Given the description of an element on the screen output the (x, y) to click on. 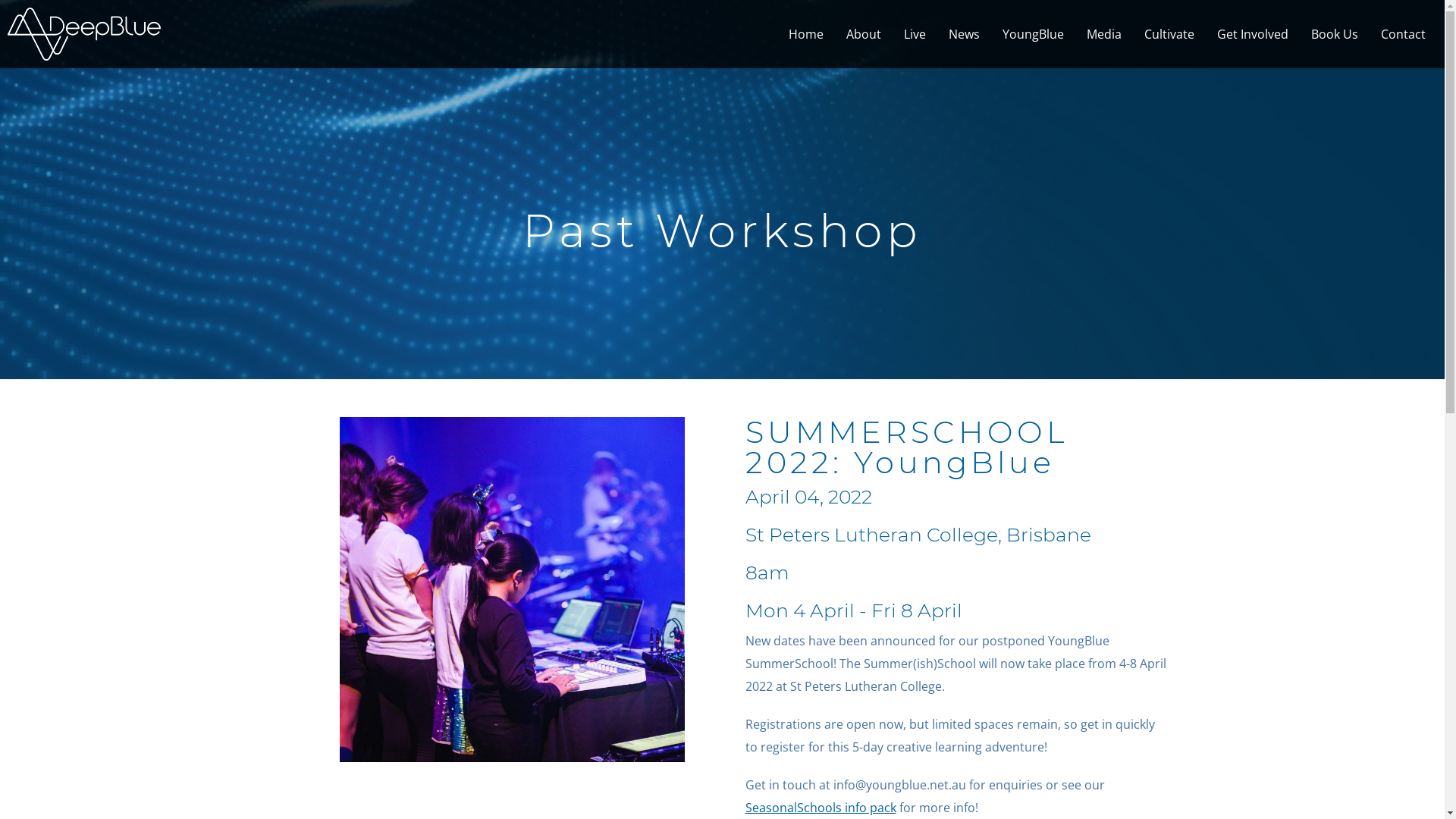
Get Involved Element type: text (1252, 34)
Home Element type: text (805, 34)
SeasonalSchools info pack Element type: text (819, 807)
Book Us Element type: text (1334, 34)
Cultivate Element type: text (1169, 34)
Contact Element type: text (1402, 34)
YoungBlue Element type: text (1032, 34)
About Element type: text (863, 34)
Live Element type: text (914, 34)
News Element type: text (963, 34)
Media Element type: text (1103, 34)
